Given the description of an element on the screen output the (x, y) to click on. 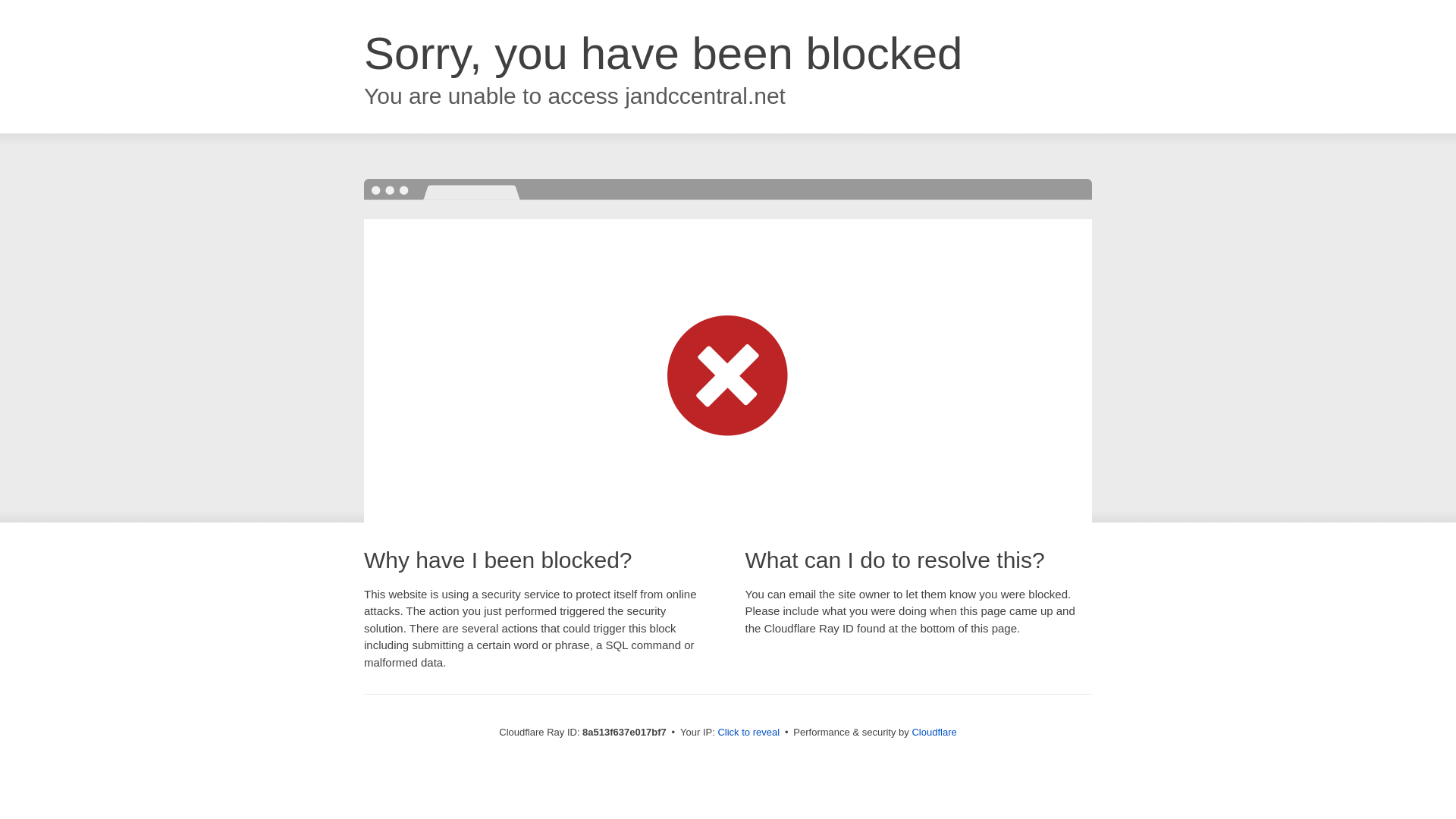
Cloudflare (933, 731)
Click to reveal (747, 732)
